Given the description of an element on the screen output the (x, y) to click on. 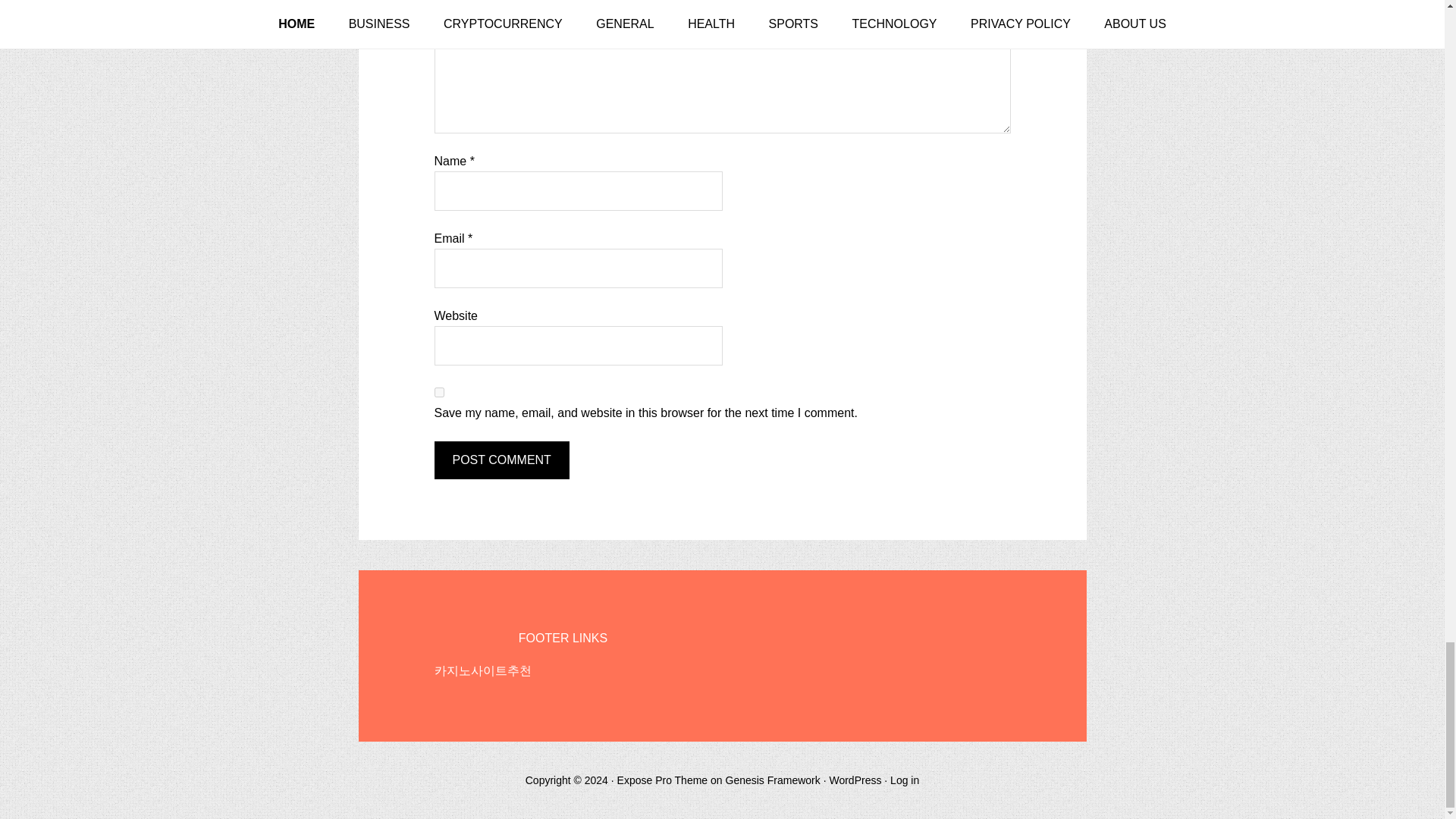
yes (438, 392)
Log in (903, 779)
Expose Pro Theme (662, 779)
Post Comment (501, 460)
WordPress (854, 779)
Post Comment (501, 460)
Genesis Framework (773, 779)
